Given the description of an element on the screen output the (x, y) to click on. 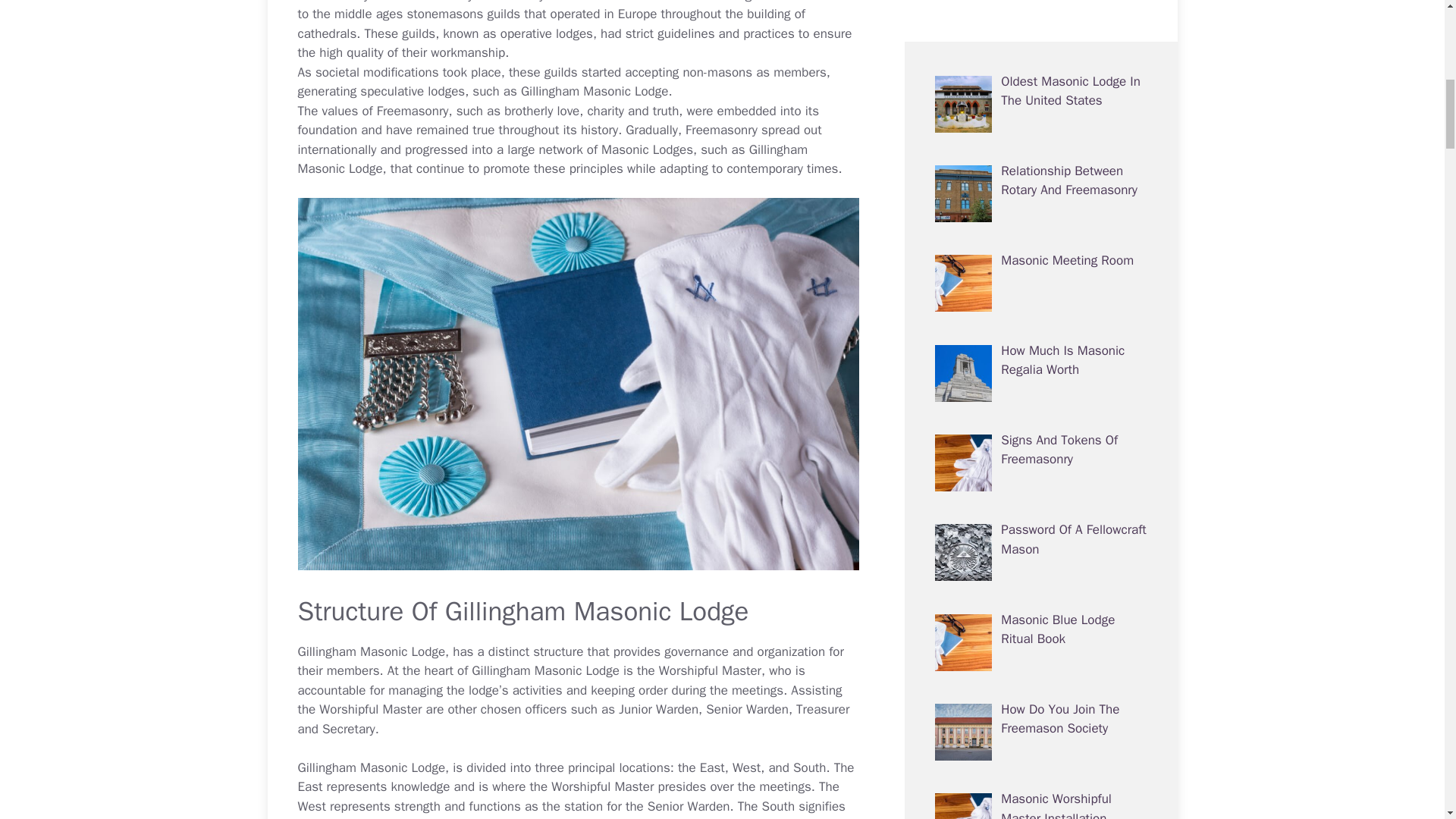
Masonic Rituals List (1058, 540)
Masonic Worshipful Master Installation Speech (1056, 111)
Masonic Temple Logo (1062, 810)
Junior Deacon Masonic Ritual (1066, 730)
About Freemasonry (1054, 451)
Scroll back to top (1406, 720)
How Do You Join The Freemason Society (1060, 15)
Provincial Grand Lodge Of Jersey (1072, 281)
Masonic Grand Master Emblem (1065, 370)
Mark Master Mason Signs (1057, 640)
Freemasons Who Signed The Constitution (1070, 191)
